Given the description of an element on the screen output the (x, y) to click on. 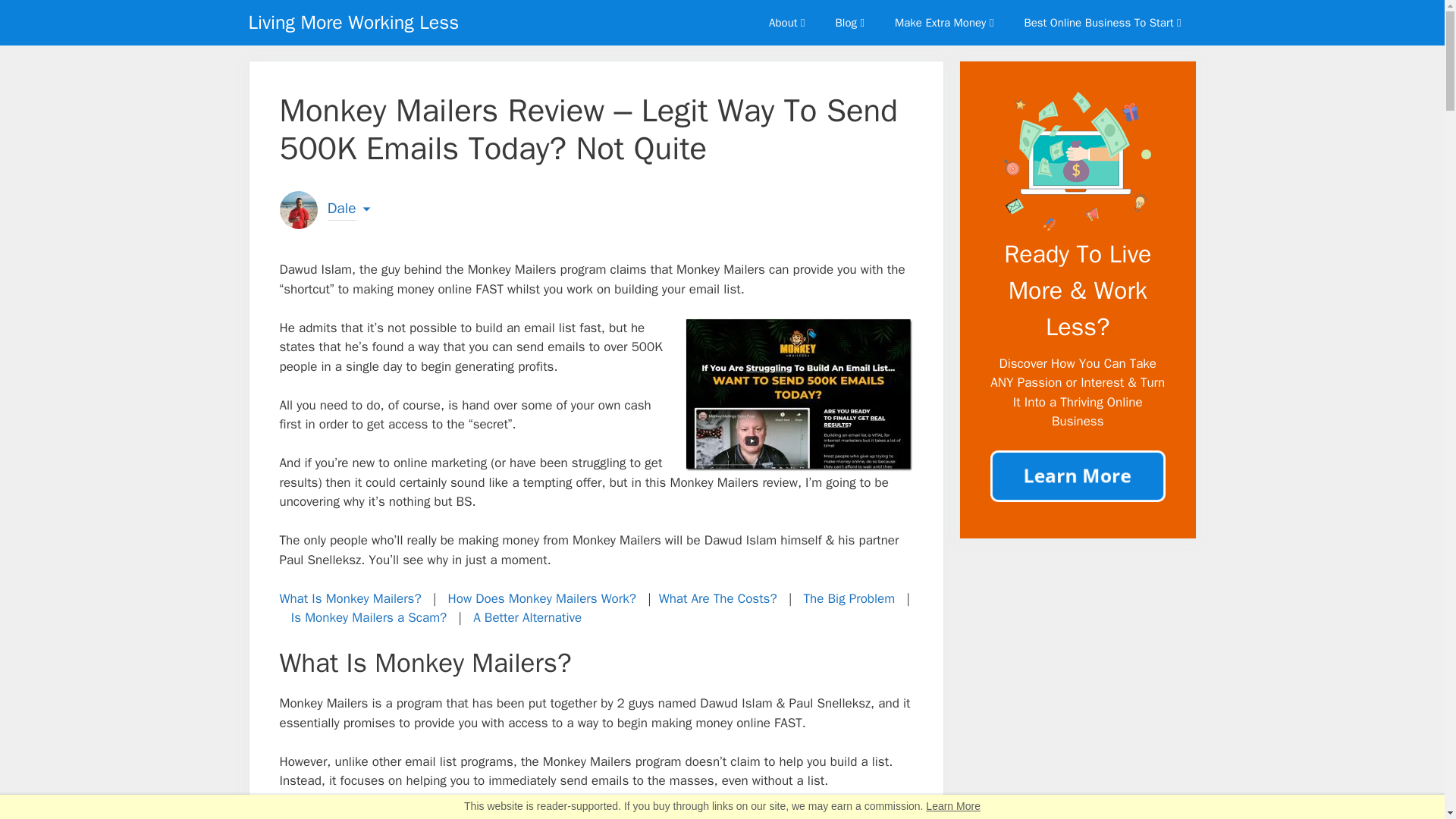
Is Monkey Mailers a Scam? (368, 617)
A Better Alternative (526, 617)
What Is Monkey Mailers? (349, 598)
How Does Monkey Mailers Work? (542, 598)
The Big Problem (849, 598)
What Are The Costs? (718, 598)
Living More Working Less (354, 22)
